Given the description of an element on the screen output the (x, y) to click on. 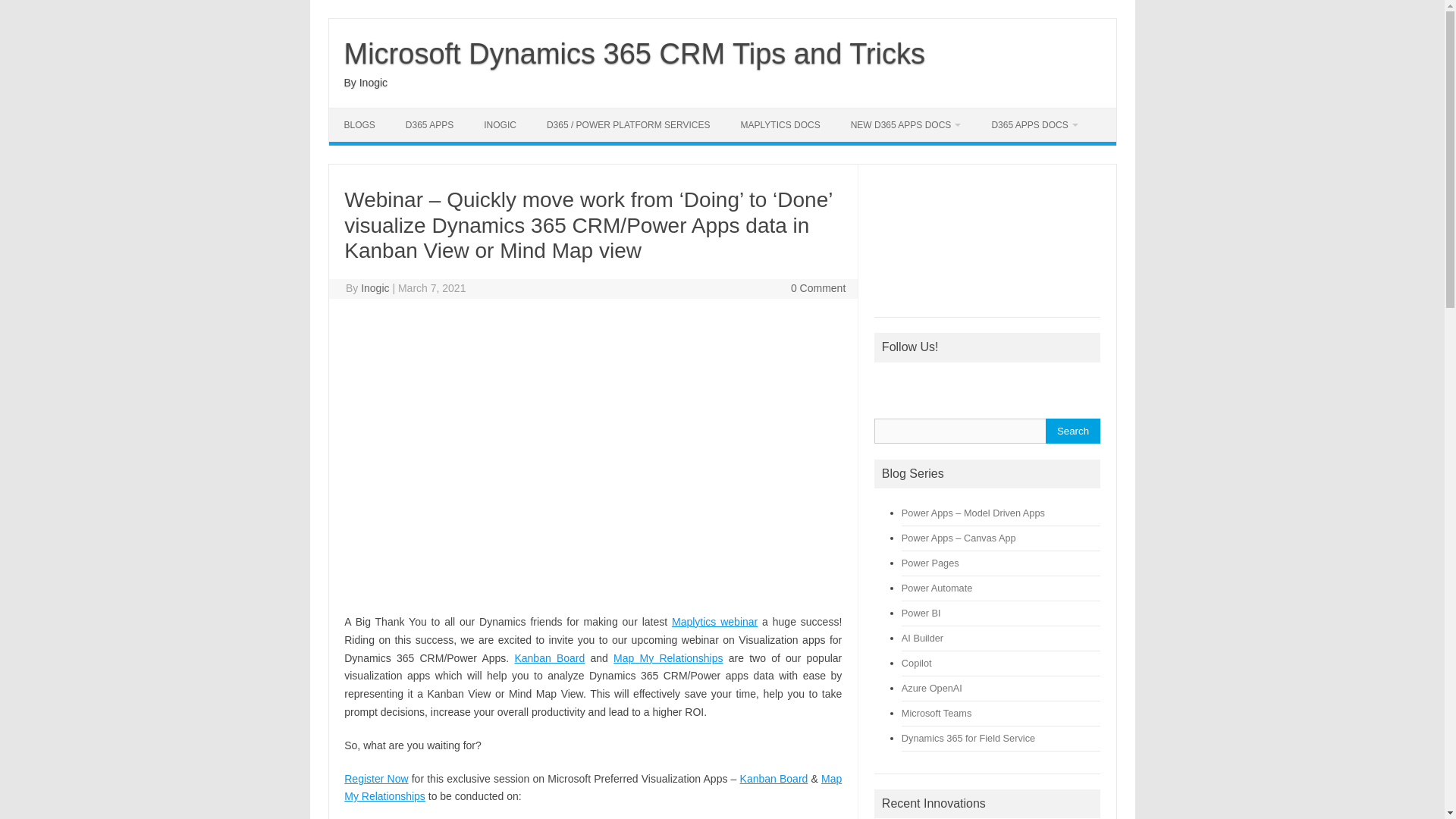
Microsoft Dynamics 365 CRM Tips and Tricks (634, 53)
Microsoft Dynamics 365 CRM Tips and Tricks (634, 53)
NEW D365 APPS DOCS (905, 124)
D365 APPS DOCS (1034, 124)
By Inogic (365, 82)
MAPLYTICS DOCS (780, 124)
Follow Us on YouTube (981, 383)
Follow Us on Docs (1077, 383)
Maplytics webinar (714, 621)
Follow Us on Facebook (886, 383)
INOGIC (499, 124)
Follow Us on E-mail (1045, 383)
Follow Us on Twitter (917, 383)
